Given the description of an element on the screen output the (x, y) to click on. 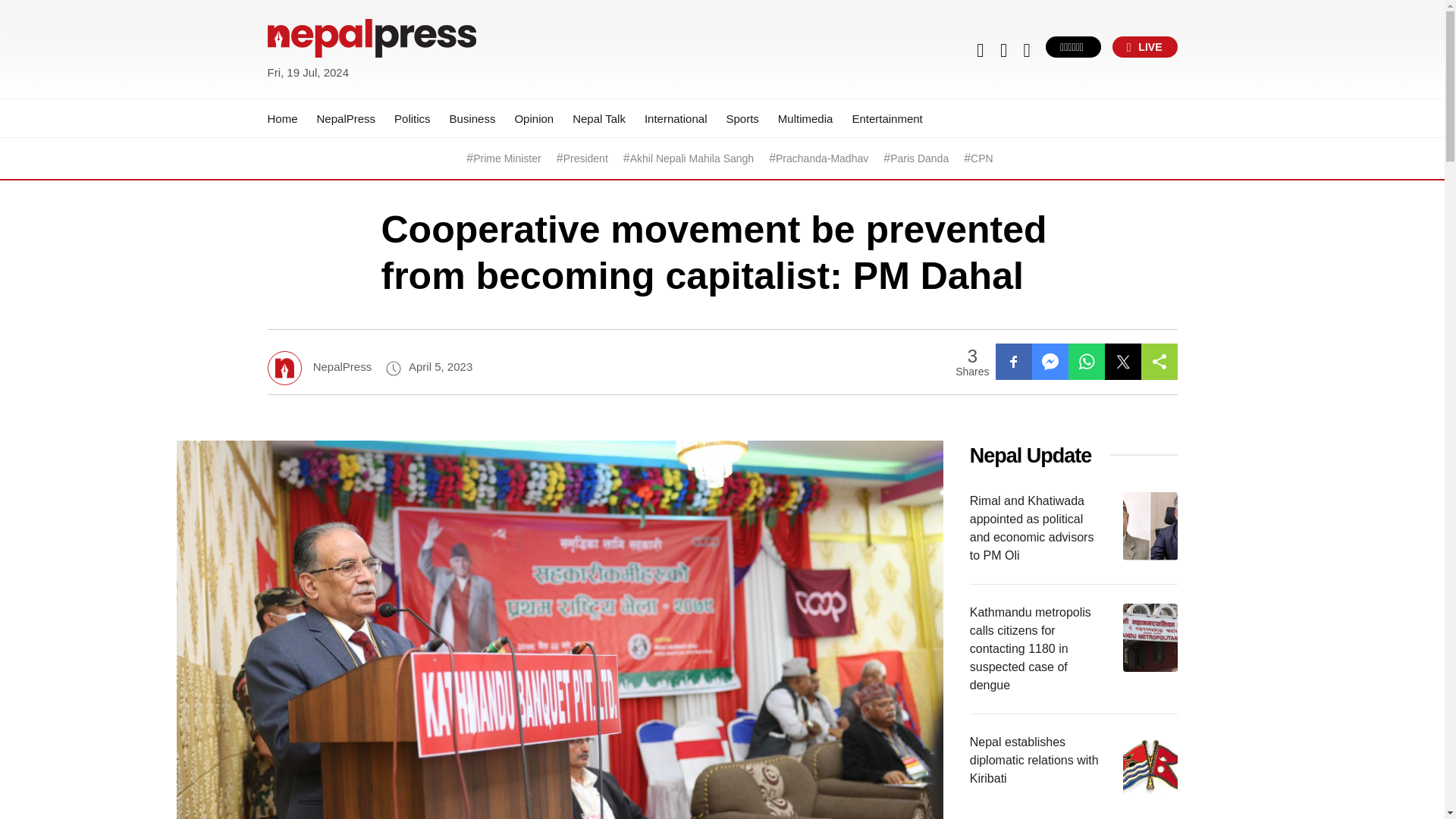
Akhil Nepali Mahila Sangh (692, 158)
Prime Minister (506, 158)
CPN (981, 158)
NepalPress (346, 118)
Entertainment (886, 118)
Nepal Talk (599, 118)
Paris Danda (919, 158)
Opinion (533, 118)
LIVE (1144, 46)
CPN (981, 158)
President (585, 158)
President (585, 158)
International (676, 118)
Paris Danda (919, 158)
Politics (412, 118)
